Given the description of an element on the screen output the (x, y) to click on. 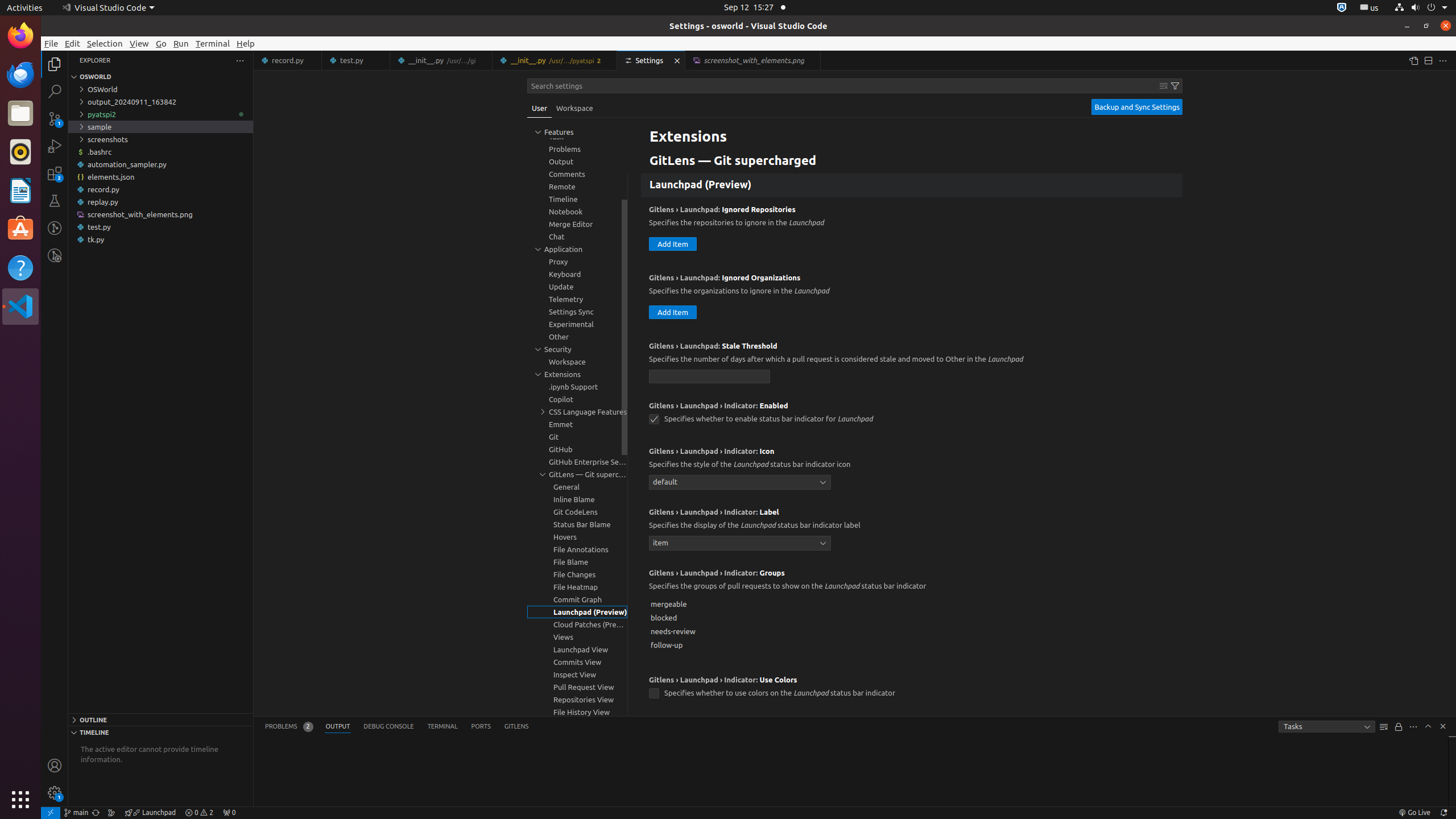
.ipynb Support, group Element type: tree-item (577, 386)
Timeline Section Element type: push-button (160, 731)
Hide Panel Element type: push-button (1442, 726)
Repositories View, group Element type: tree-item (577, 699)
Output, group Element type: tree-item (577, 161)
